Given the description of an element on the screen output the (x, y) to click on. 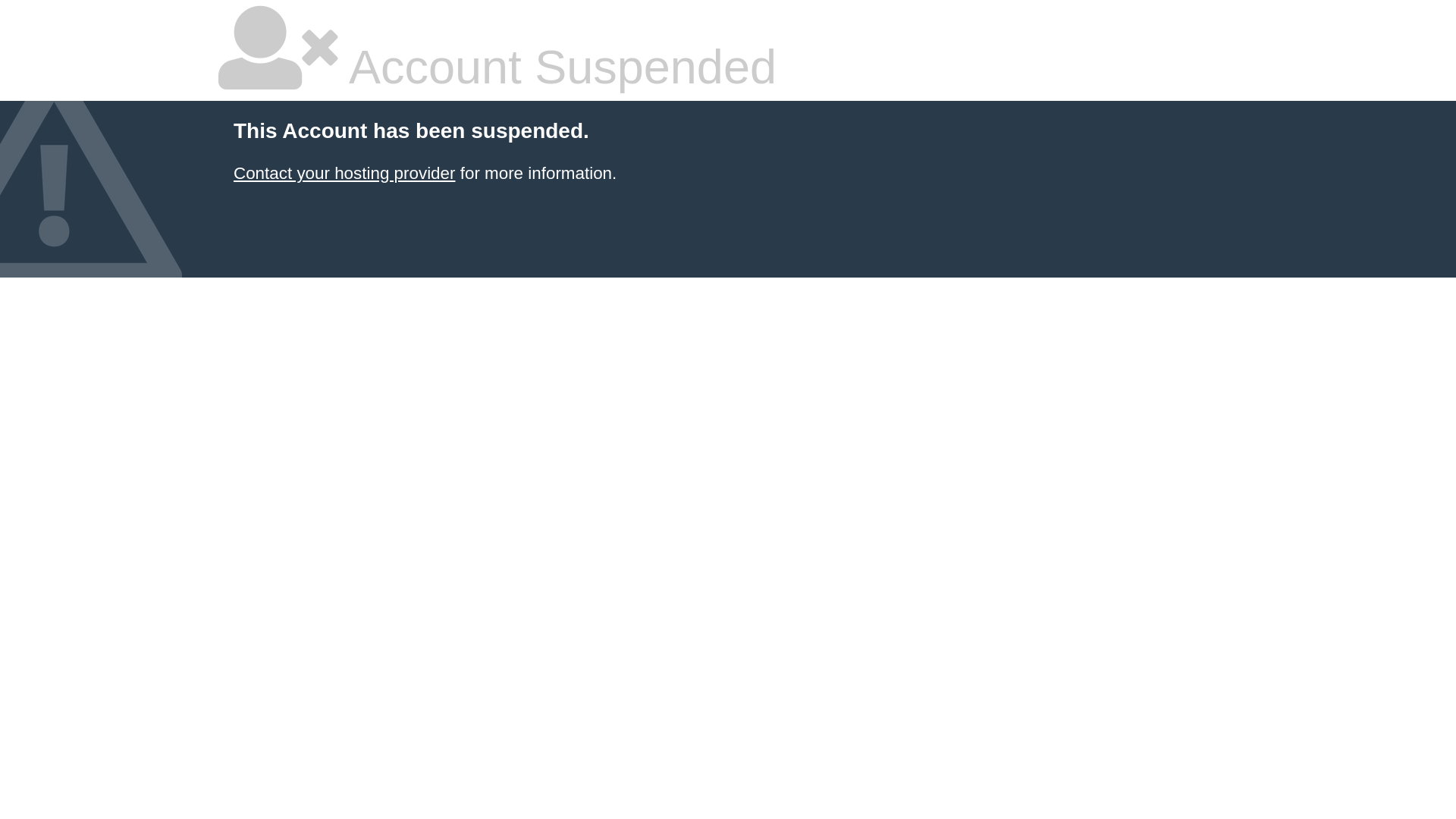
Contact your hosting provider Element type: text (344, 172)
